Given the description of an element on the screen output the (x, y) to click on. 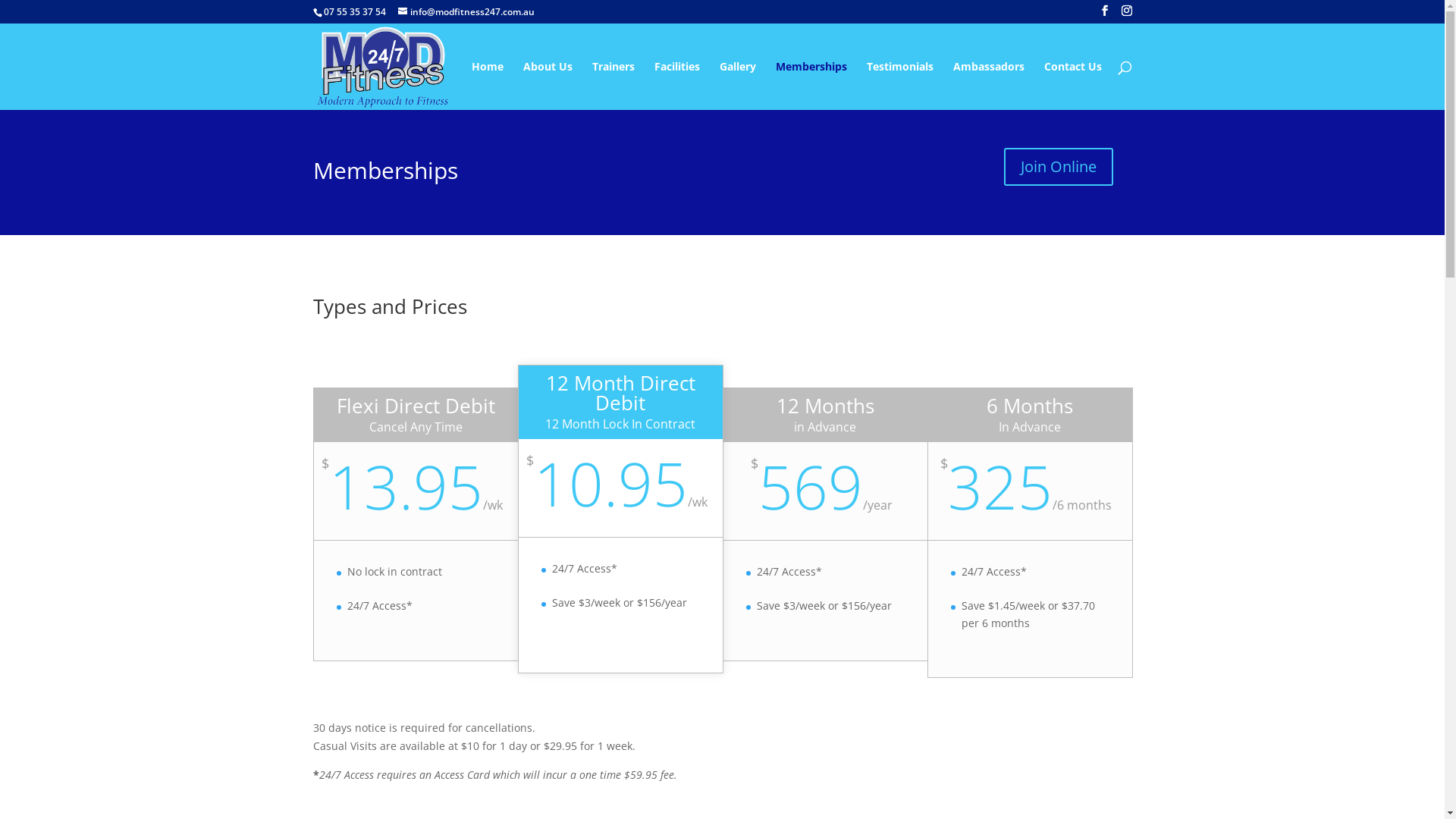
Gallery Element type: text (736, 85)
Ambassadors Element type: text (987, 85)
Trainers Element type: text (612, 85)
Memberships Element type: text (810, 85)
07 55 35 37 54 Element type: text (354, 11)
Contact Us Element type: text (1072, 85)
Join Online Element type: text (1058, 166)
Facilities Element type: text (676, 85)
Home Element type: text (487, 85)
Testimonials Element type: text (899, 85)
About Us Element type: text (547, 85)
info@modfitness247.com.au Element type: text (465, 11)
